Given the description of an element on the screen output the (x, y) to click on. 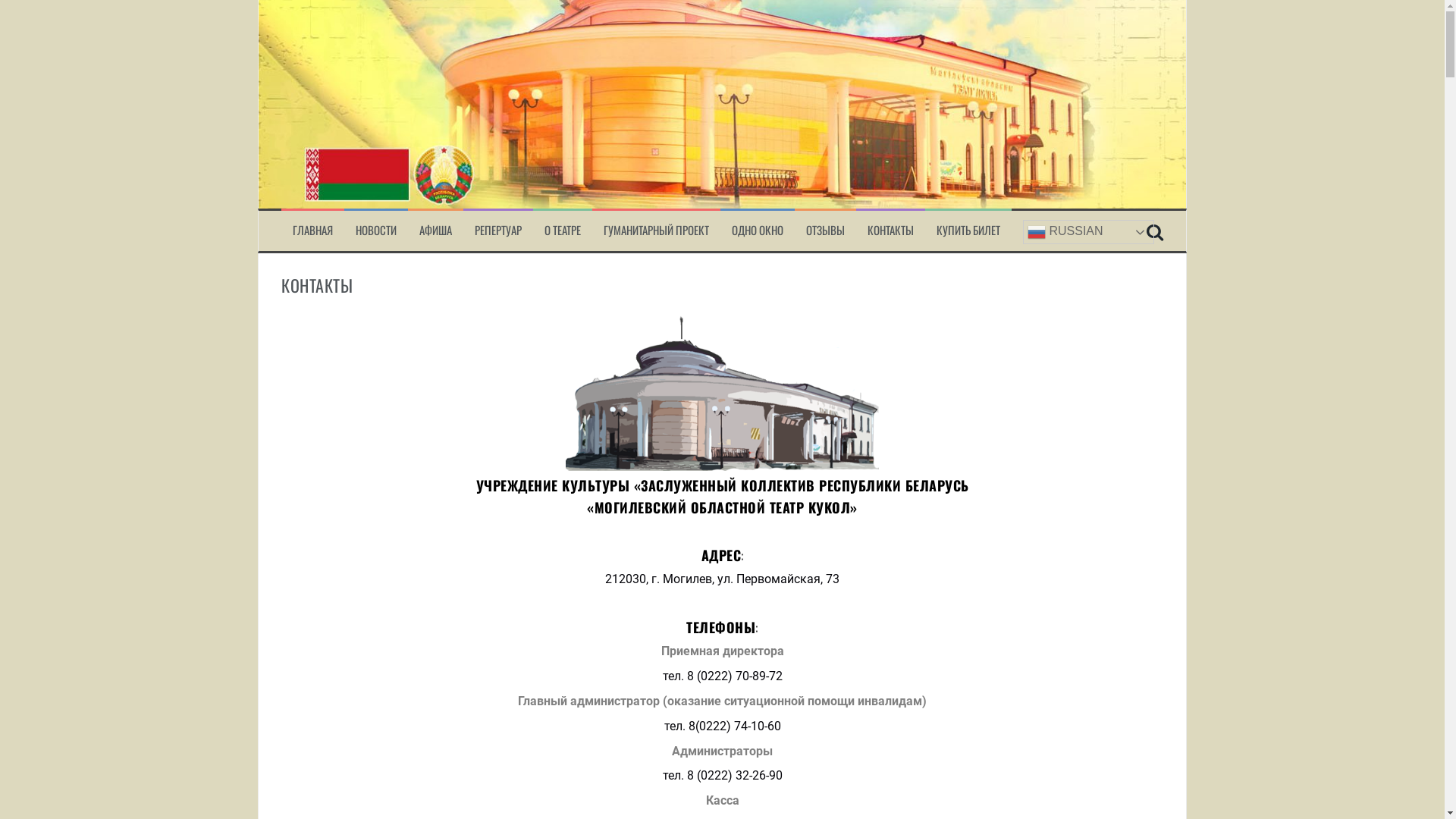
RUSSIAN Element type: text (1088, 231)
